Given the description of an element on the screen output the (x, y) to click on. 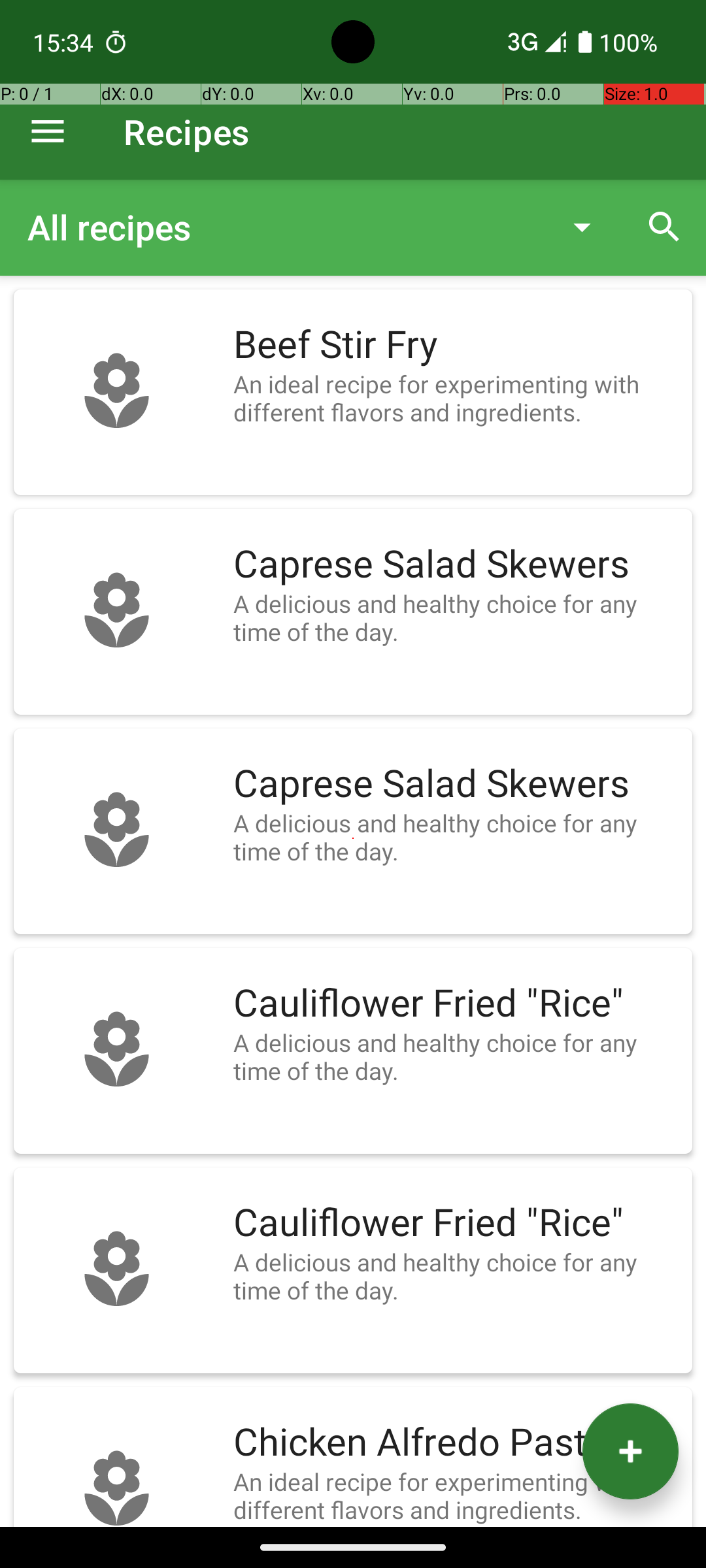
Beef Stir Fry Element type: android.widget.TextView (455, 344)
Caprese Salad Skewers Element type: android.widget.TextView (455, 564)
Cauliflower Fried "Rice" Element type: android.widget.TextView (455, 1003)
Chicken Alfredo Pasta Element type: android.widget.TextView (455, 1442)
